Given the description of an element on the screen output the (x, y) to click on. 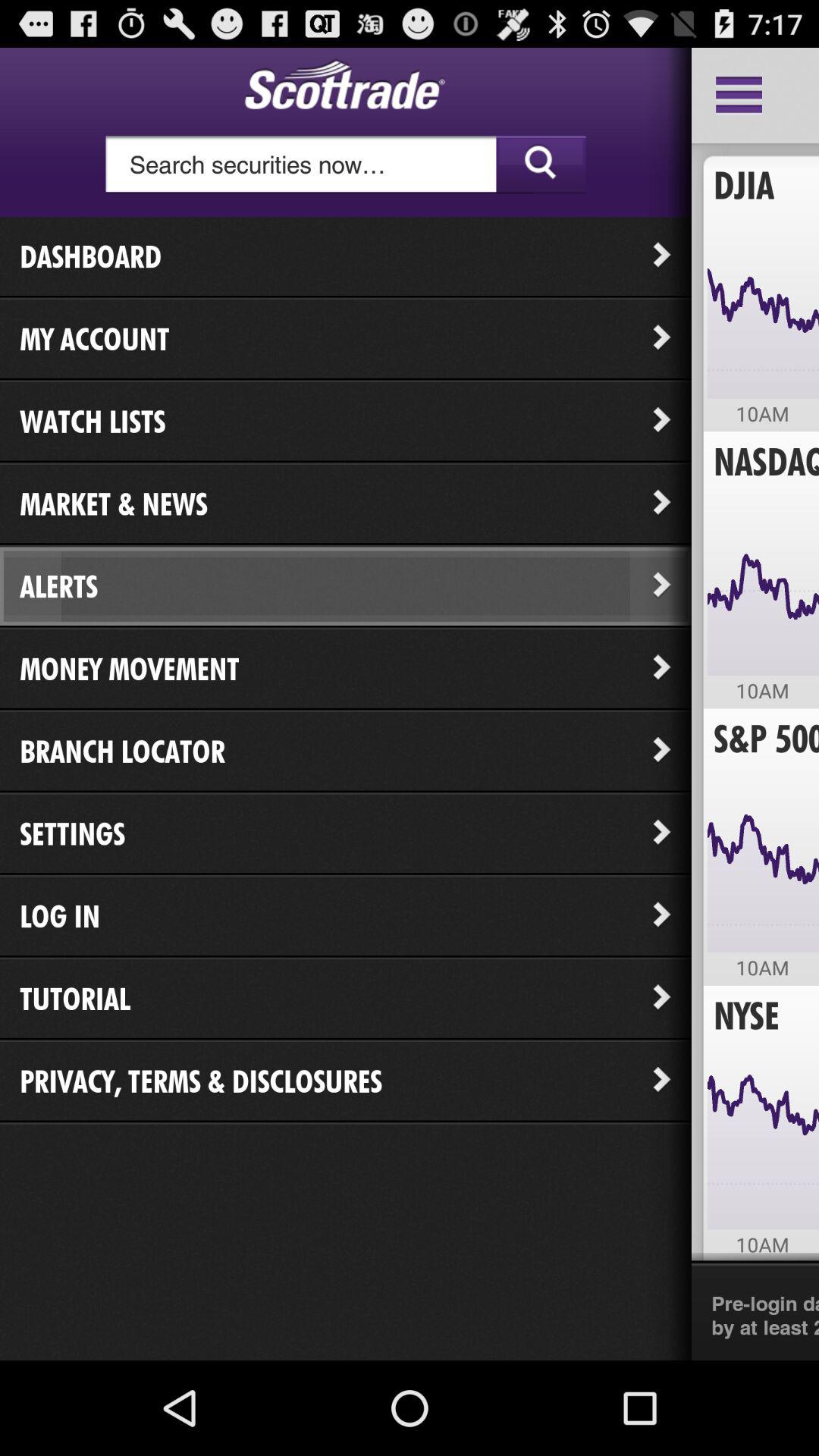
turn on the icon above the dashboard (345, 164)
